Given the description of an element on the screen output the (x, y) to click on. 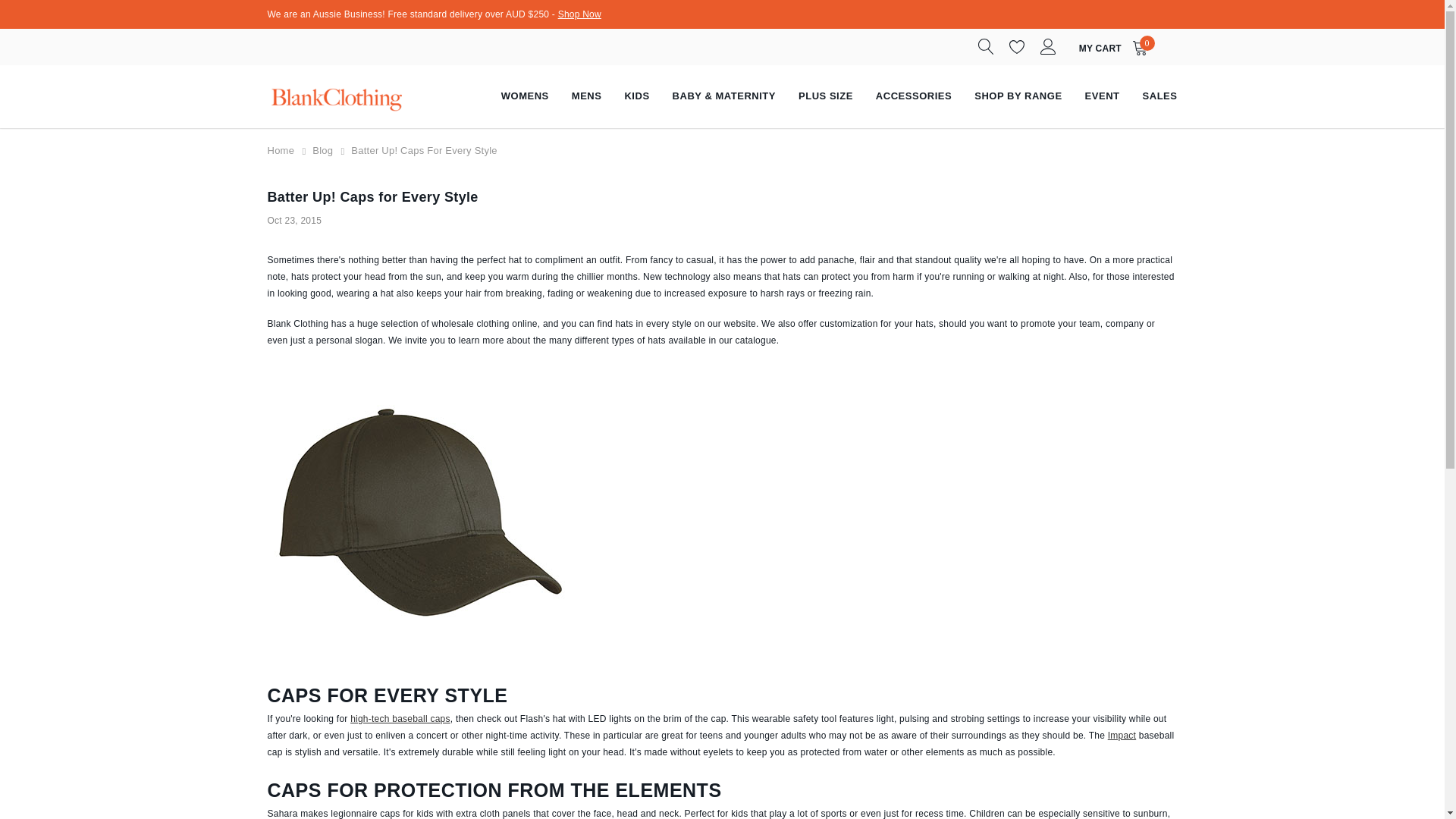
Blank Clothing (333, 95)
Yakka Oilskin Baseball Cap (418, 513)
High-Tech Baseball Caps (399, 718)
Shop Now (579, 14)
Shop Now (1116, 46)
Plain Baseball Cap (579, 14)
WOMENS (1121, 735)
